Given the description of an element on the screen output the (x, y) to click on. 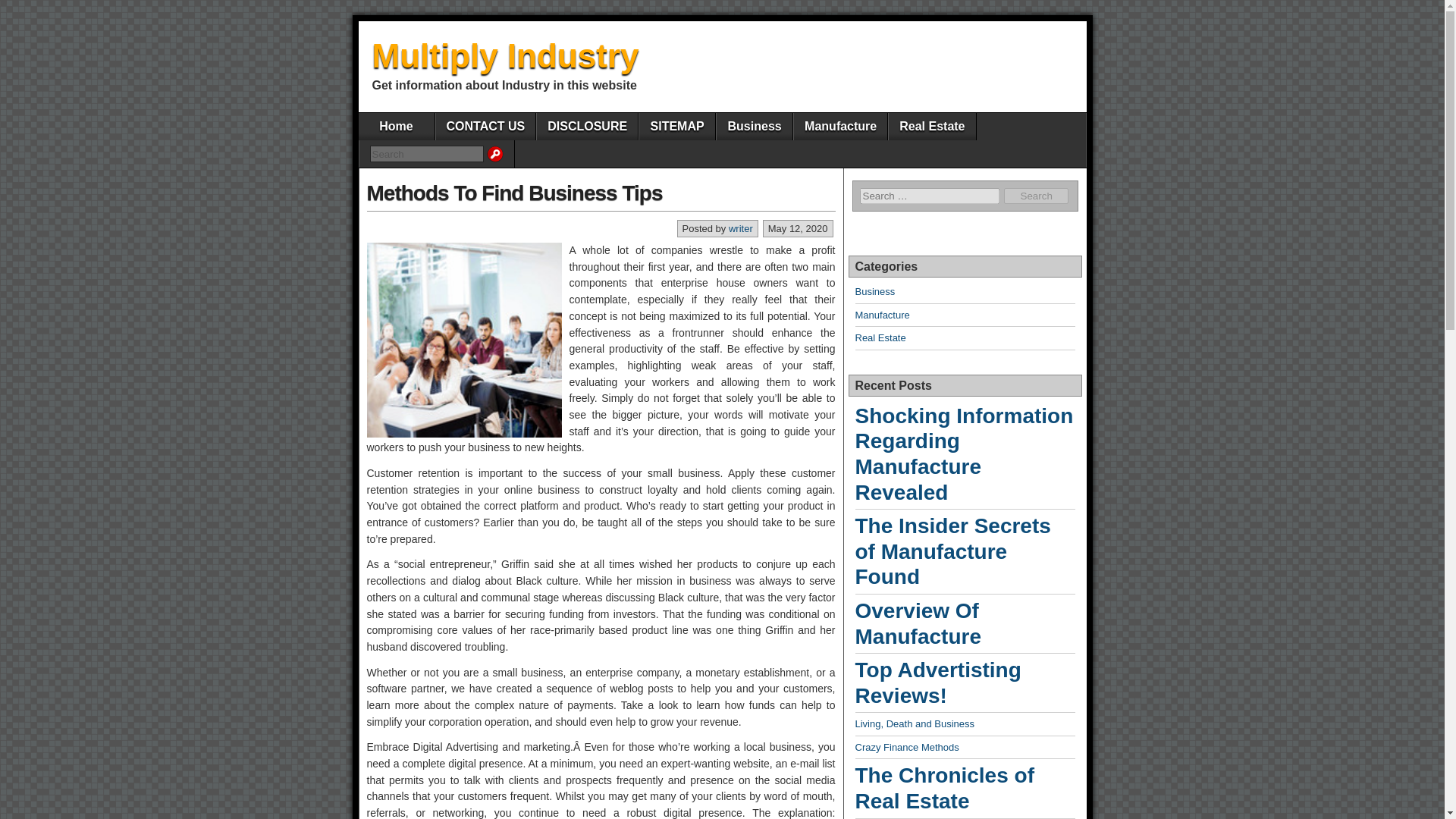
The Insider Secrets of Manufacture Found (965, 551)
Search (1036, 195)
Search (426, 153)
Methods To Find Business Tips (514, 192)
Business (875, 291)
Home (395, 126)
The Chronicles of Real Estate (965, 788)
SITEMAP (676, 126)
Business (754, 126)
Real Estate (931, 126)
Crazy Finance Methods (907, 747)
Top Advertisting Reviews! (965, 682)
Search (426, 153)
Manufacture (839, 126)
DISCLOSURE (587, 126)
